Given the description of an element on the screen output the (x, y) to click on. 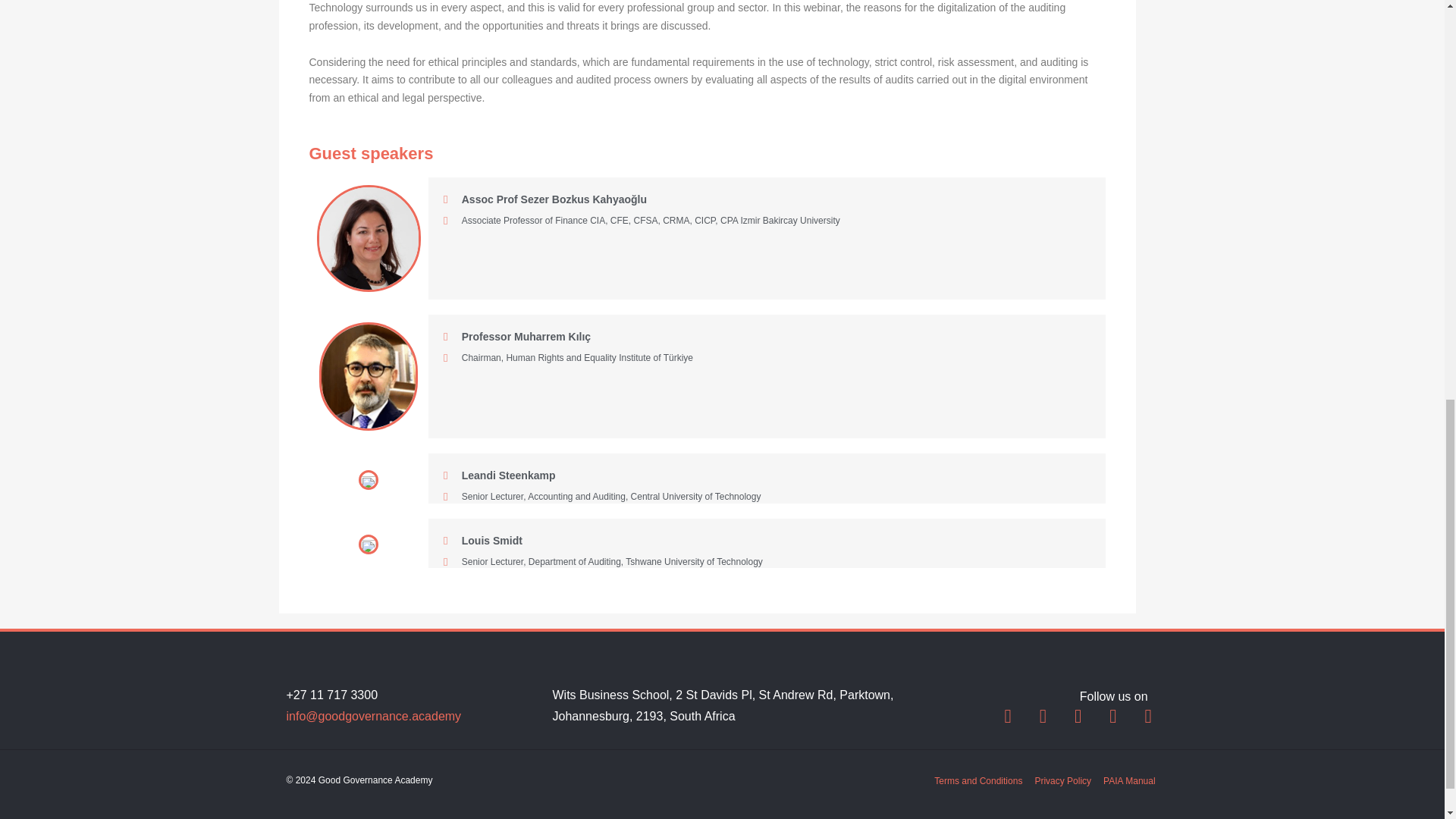
Louis Smidt (483, 540)
PAIA Manual (1128, 781)
Privacy Policy (1061, 781)
Terms and Conditions (978, 781)
Leandi Steenkamp (499, 475)
